Given the description of an element on the screen output the (x, y) to click on. 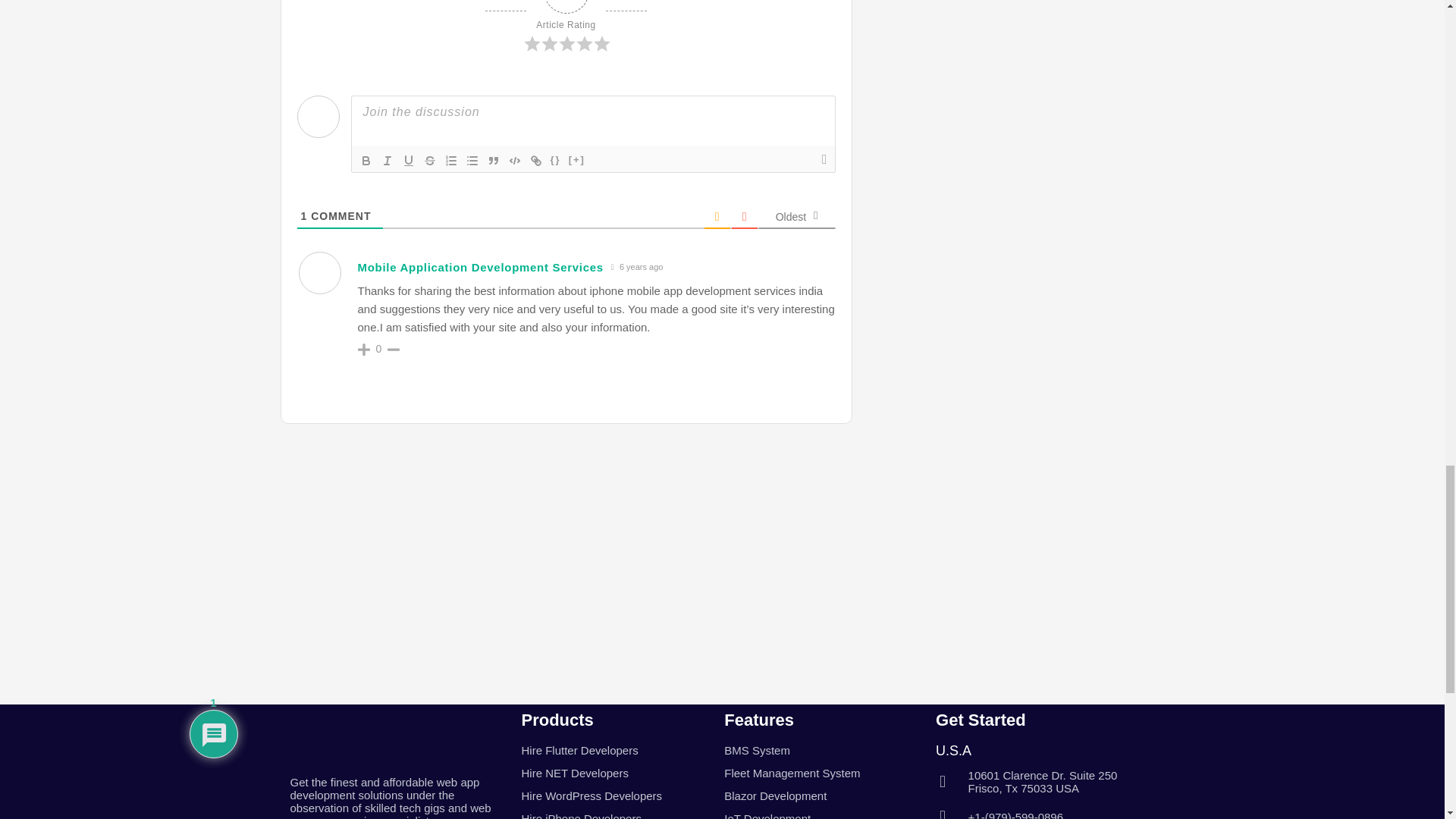
Bold (365, 160)
Code Block (513, 160)
Ordered List (450, 160)
Underline (408, 160)
Source Code (555, 160)
Strike (429, 160)
Spoiler (576, 160)
Blockquote (492, 160)
Italic (386, 160)
Link (535, 160)
